Given the description of an element on the screen output the (x, y) to click on. 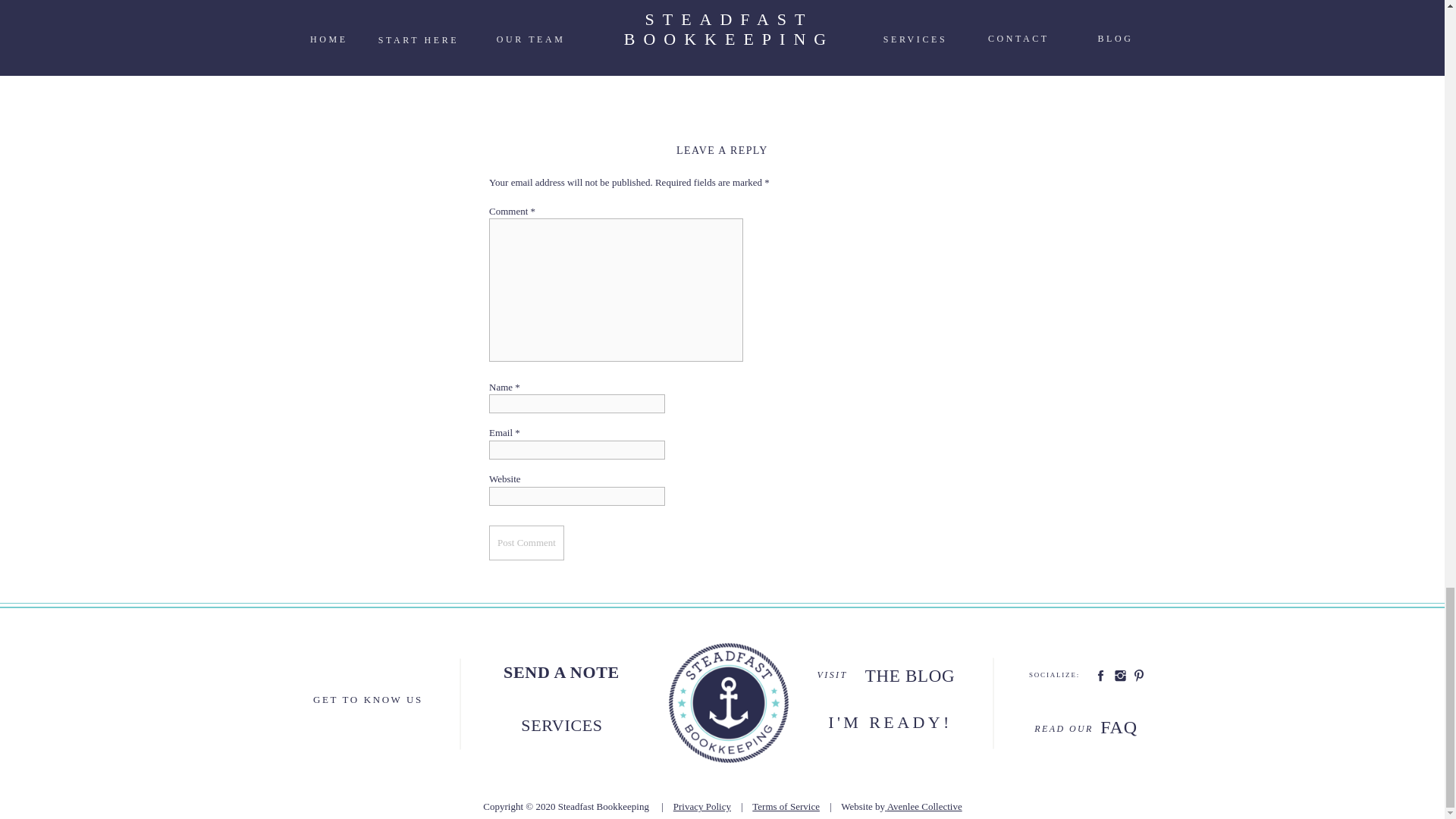
I'M READY! (890, 729)
FAQ (1118, 729)
Post Comment (526, 542)
Be the first to comment (536, 69)
Post Comment (526, 542)
READ OUR (1064, 728)
Terms of Service (785, 806)
SERVICES (561, 724)
Privacy Policy (701, 806)
Avenlee Collective (924, 806)
